Given the description of an element on the screen output the (x, y) to click on. 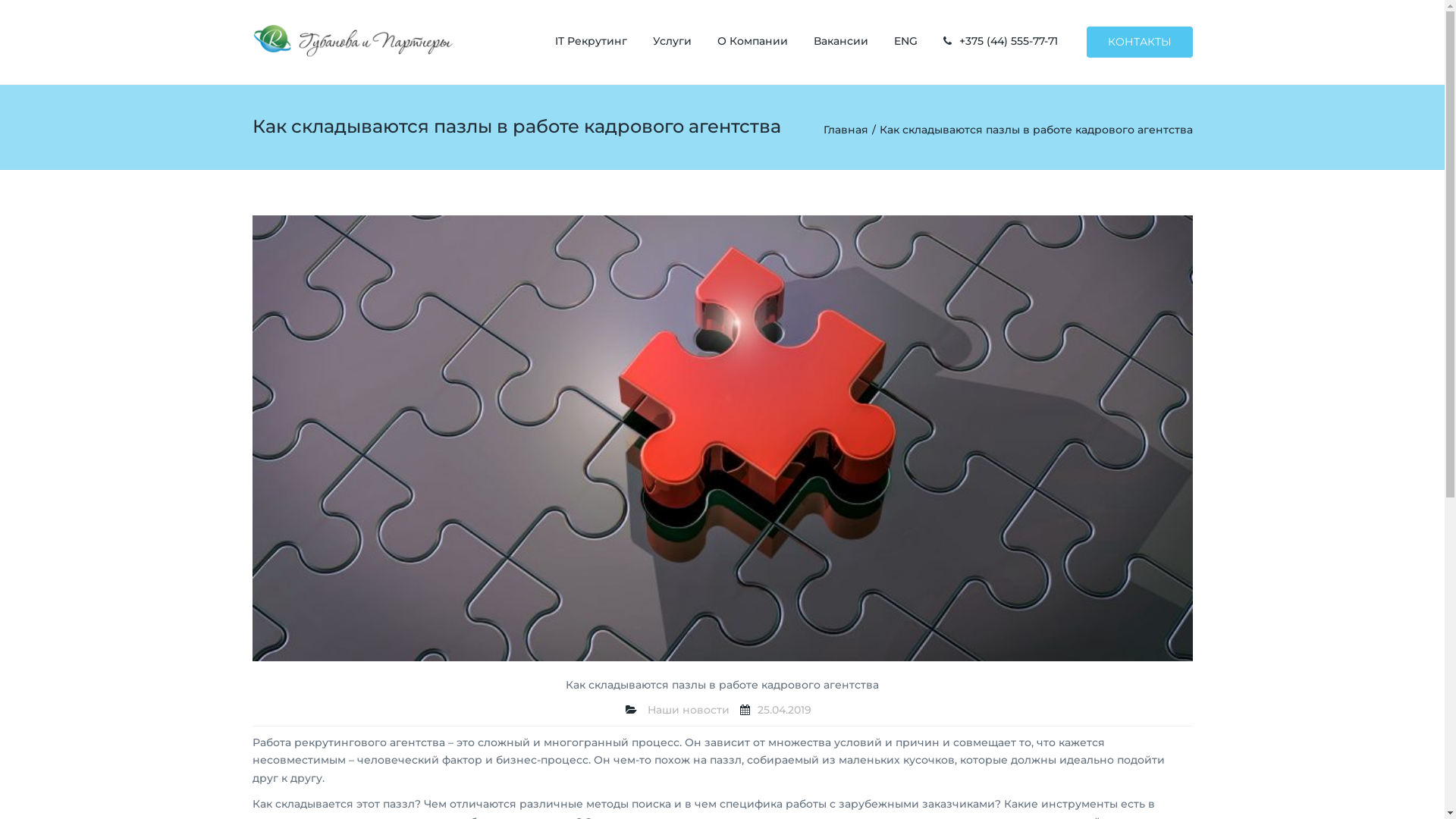
+375 (44) 555-77-71 Element type: text (1008, 40)
ENG Element type: text (905, 40)
